Given the description of an element on the screen output the (x, y) to click on. 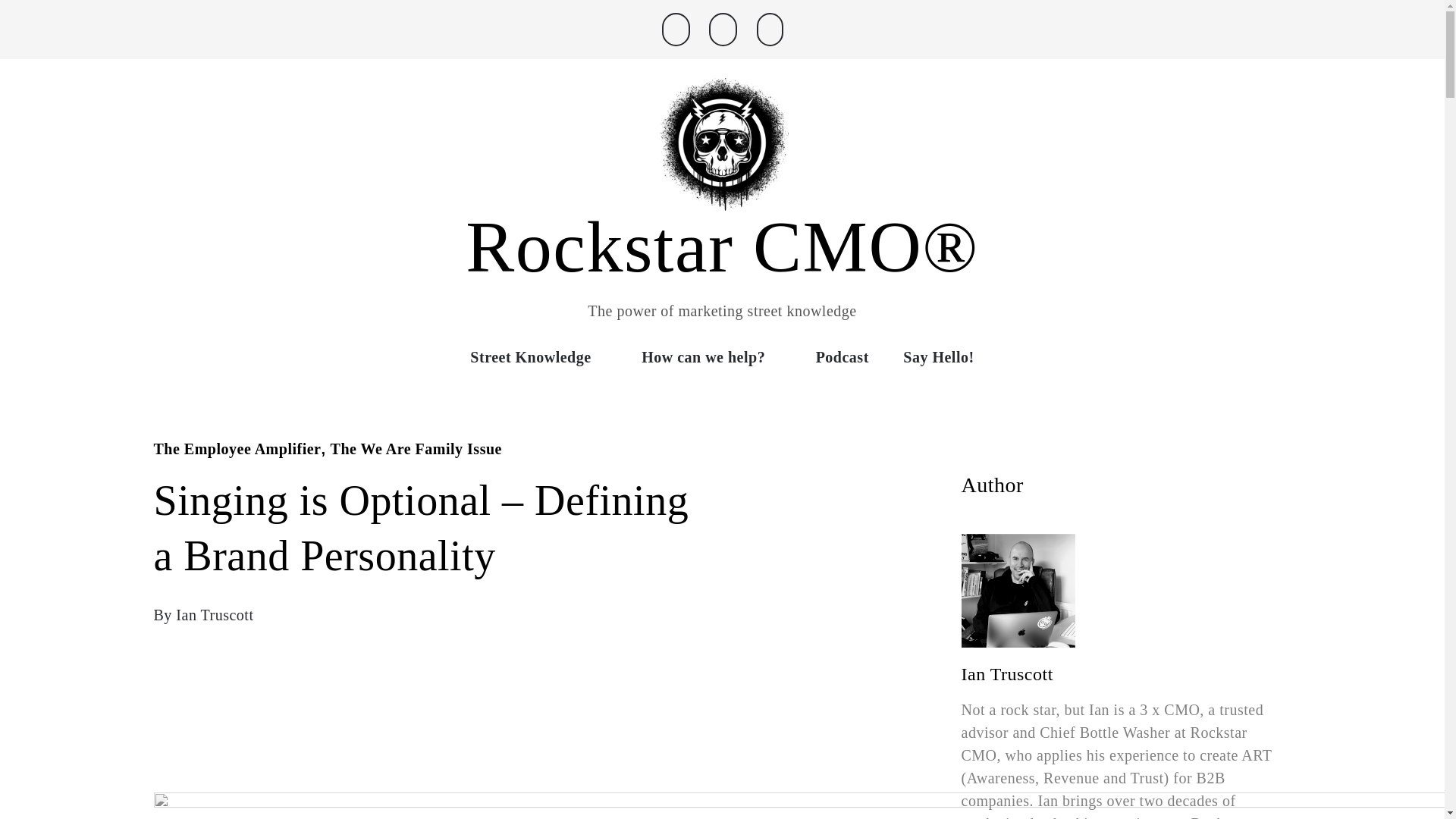
Podcast (841, 356)
How can we help? (711, 356)
Ian Truscott (214, 614)
The We Are Family Issue (416, 448)
Say Hello! (938, 356)
Street Knowledge (537, 356)
The Employee Amplifier (236, 448)
